Given the description of an element on the screen output the (x, y) to click on. 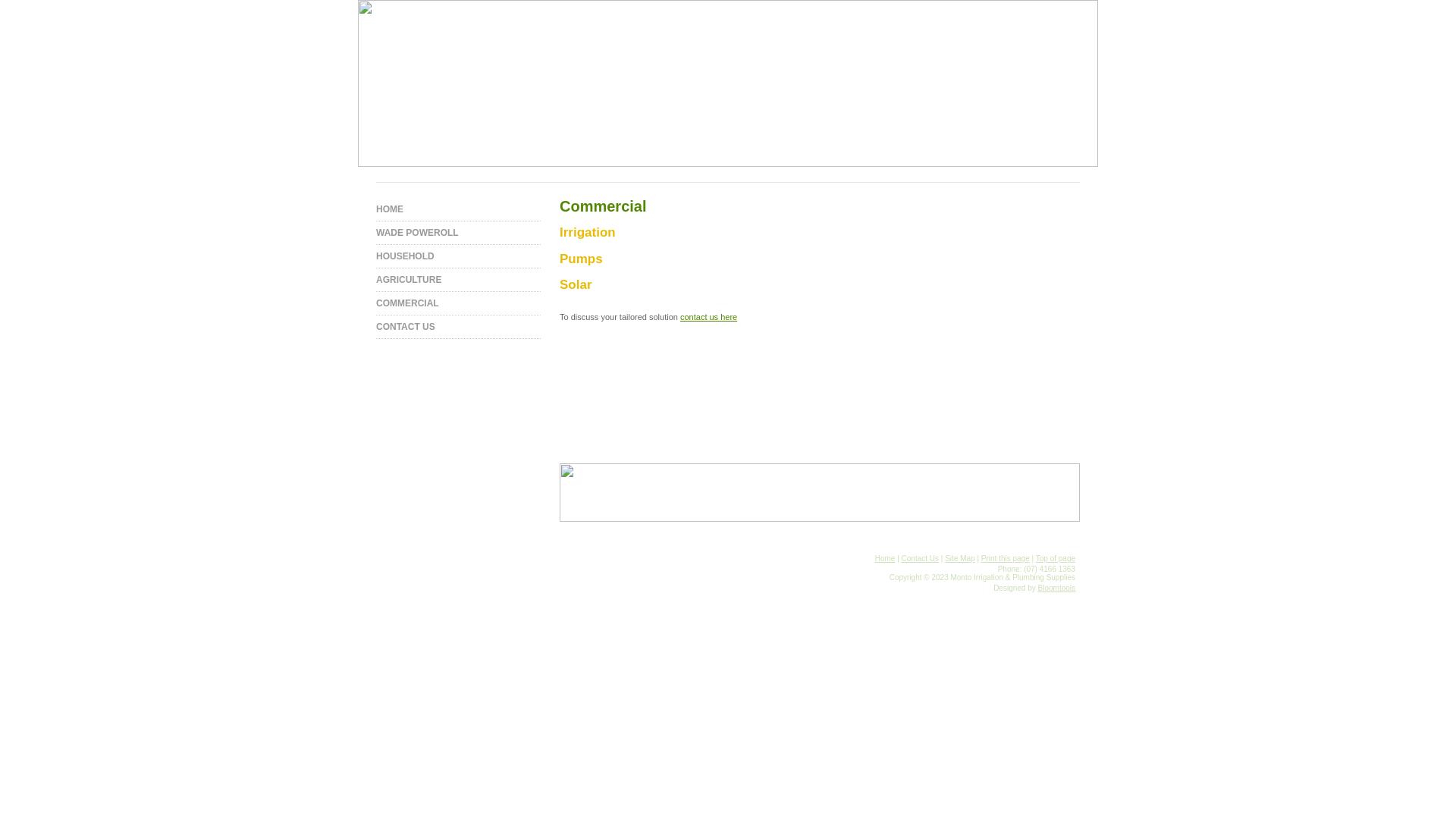
Top of page Element type: text (1055, 558)
CONTACT US Element type: text (458, 326)
Bloomtools Element type: text (1056, 587)
Home Element type: text (885, 558)
HOUSEHOLD Element type: text (458, 256)
COMMERCIAL Element type: text (458, 303)
contact us here Element type: text (708, 316)
Site Map Element type: text (959, 558)
WADE POWEROLL Element type: text (458, 232)
Print this page Element type: text (1005, 558)
AGRICULTURE Element type: text (458, 279)
HOME Element type: text (458, 209)
Contact Us Element type: text (919, 558)
